Given the description of an element on the screen output the (x, y) to click on. 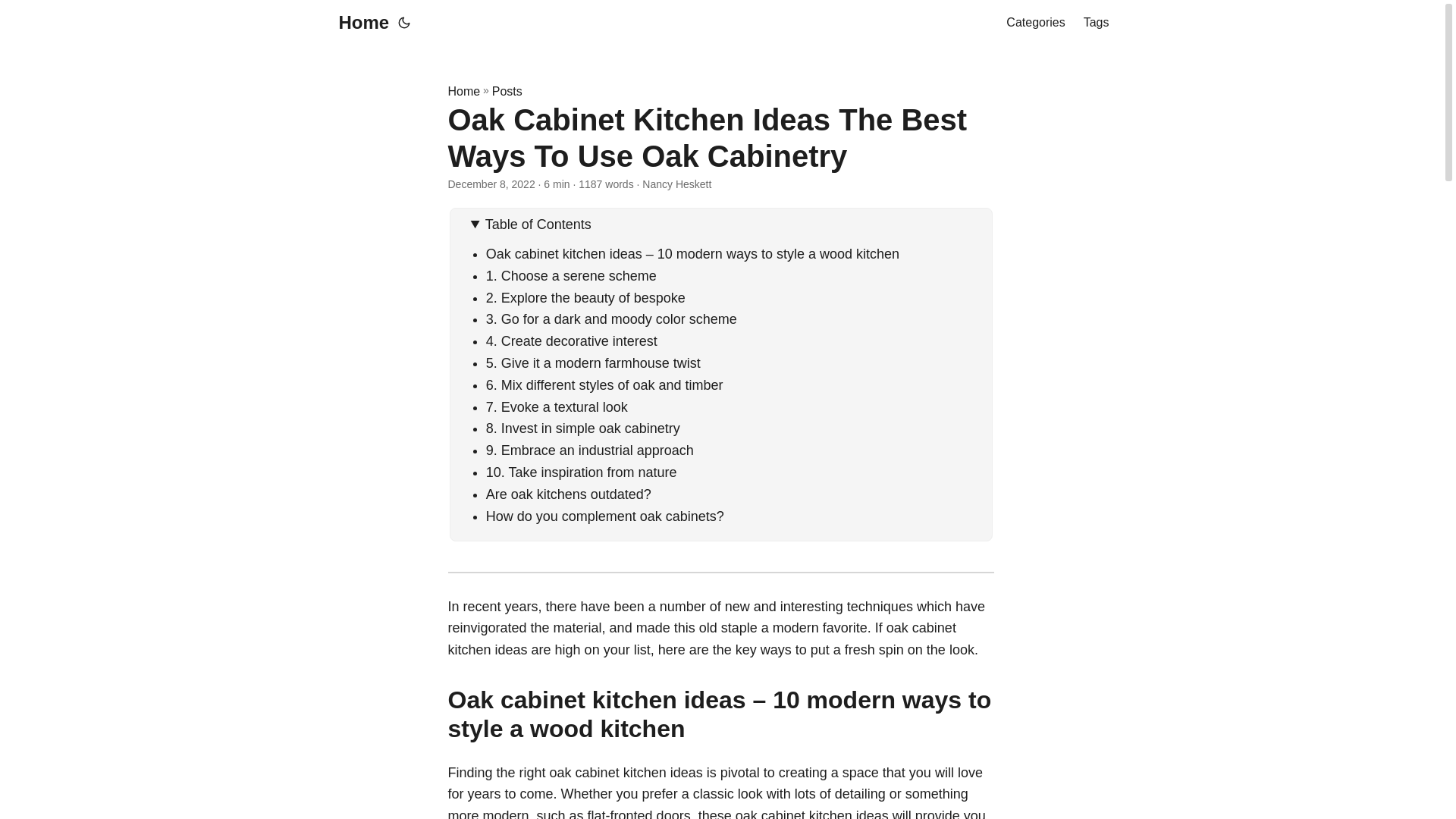
Posts (507, 91)
9. Embrace an industrial approach (590, 450)
4. Create decorative interest  (573, 340)
7. Evoke a textural look (556, 406)
Are oak kitchens outdated? (568, 494)
Categories (1035, 22)
1. Choose a serene scheme (571, 275)
Categories (1035, 22)
10. Take inspiration from nature (581, 472)
3. Go for a dark and moody color scheme (611, 319)
6. Mix different styles of oak and timber (604, 385)
How do you complement oak cabinets? (604, 516)
Home (359, 22)
2. Explore the beauty of bespoke (585, 297)
8. Invest in simple oak cabinetry (582, 427)
